Given the description of an element on the screen output the (x, y) to click on. 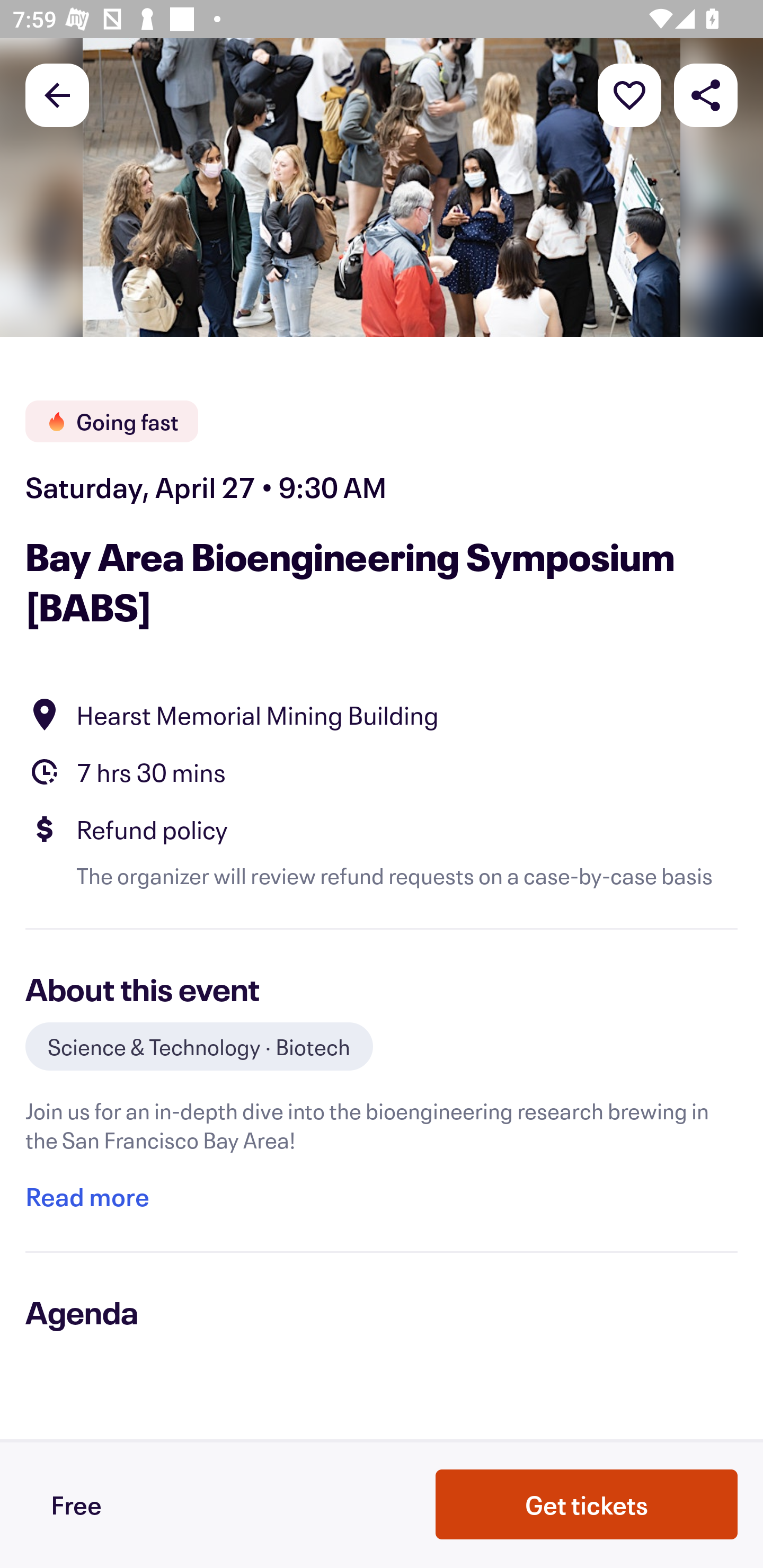
Back (57, 94)
More (629, 94)
Share (705, 94)
Location Hearst Memorial Mining Building (381, 713)
Read more (87, 1196)
Get tickets (586, 1504)
